Given the description of an element on the screen output the (x, y) to click on. 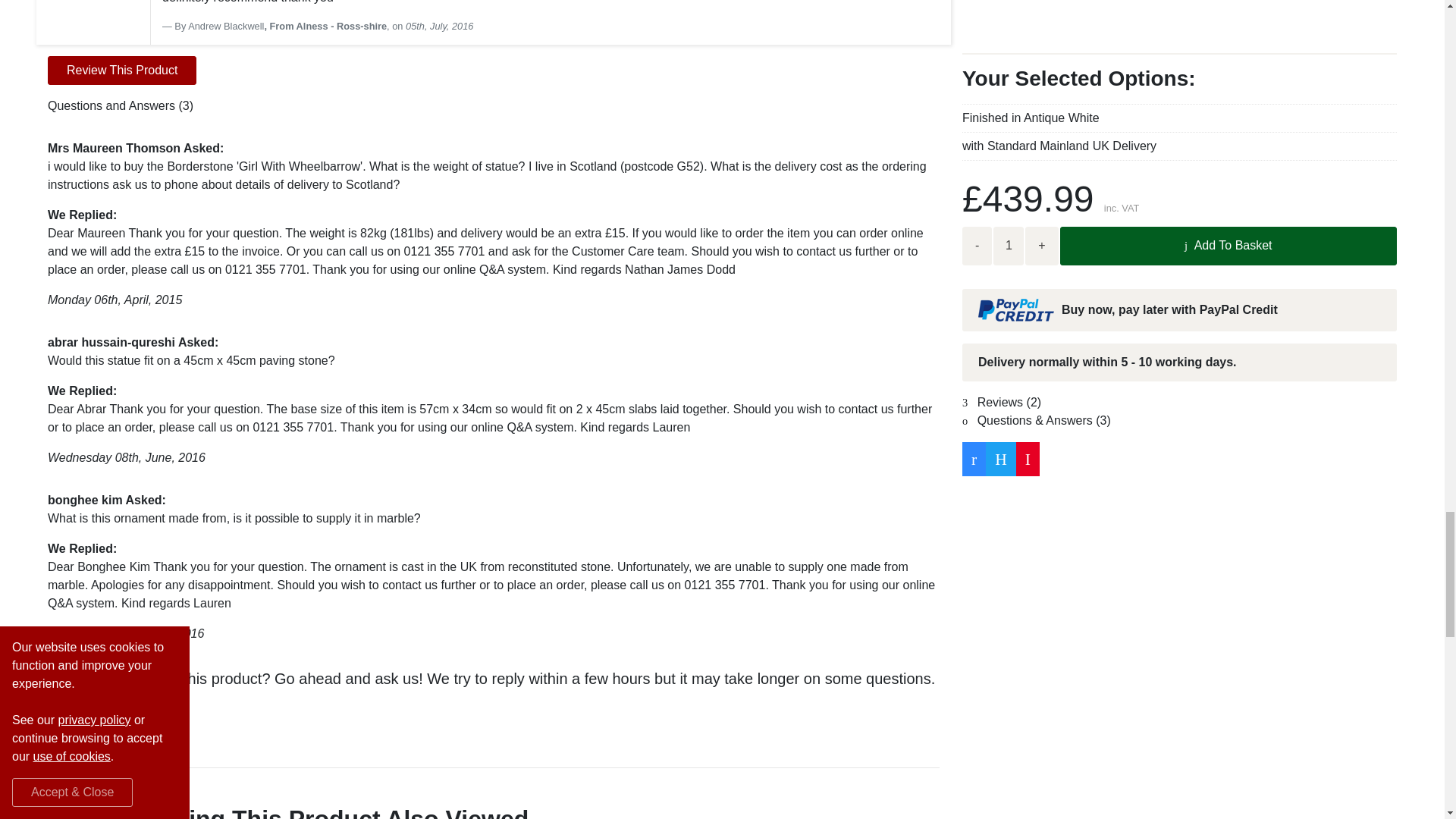
Review Date (439, 25)
